Given the description of an element on the screen output the (x, y) to click on. 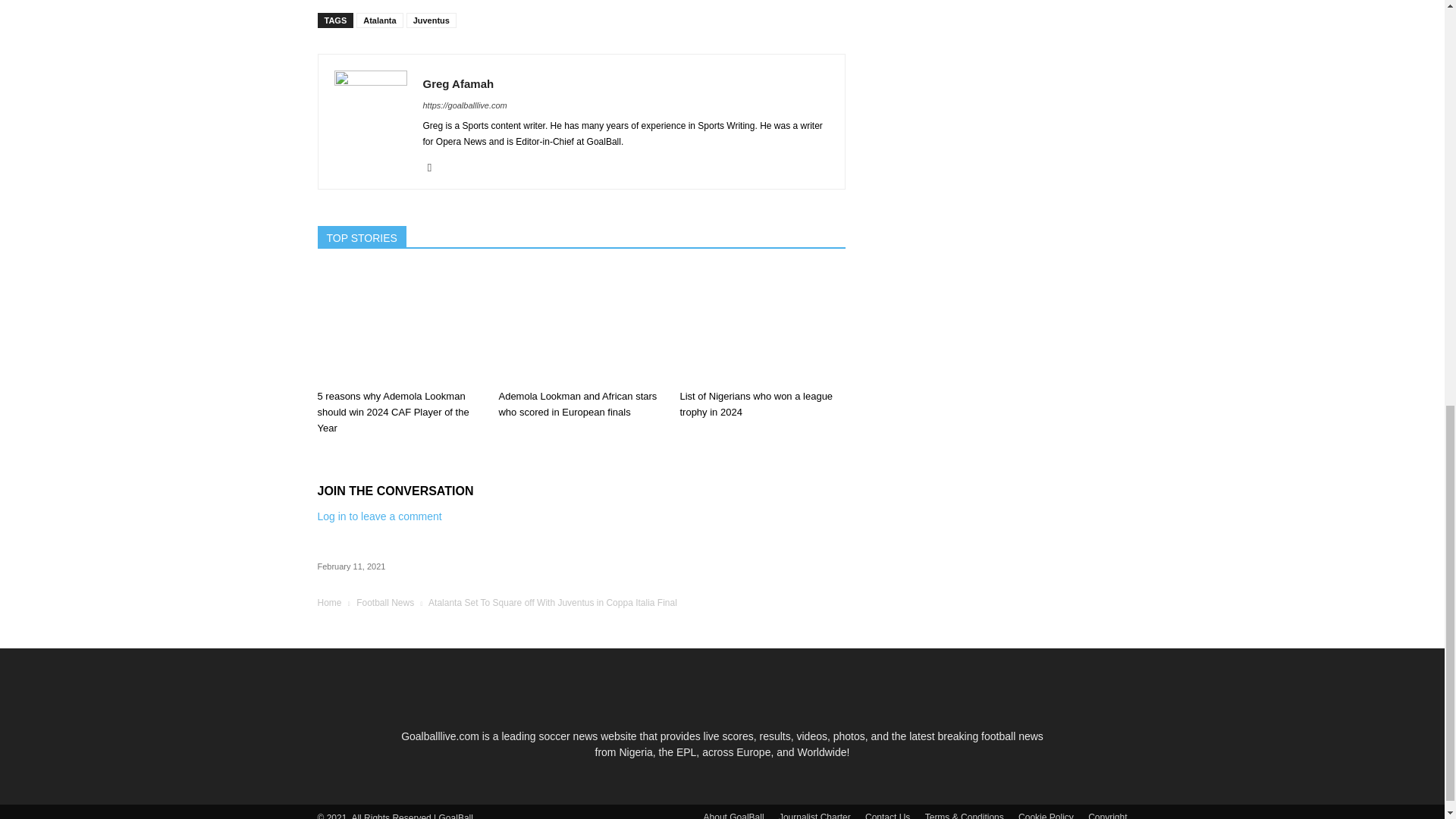
List of Nigerians who won a league trophy in 2024 (761, 326)
Twitter (435, 167)
List of Nigerians who won a league trophy in 2024 (755, 403)
